Given the description of an element on the screen output the (x, y) to click on. 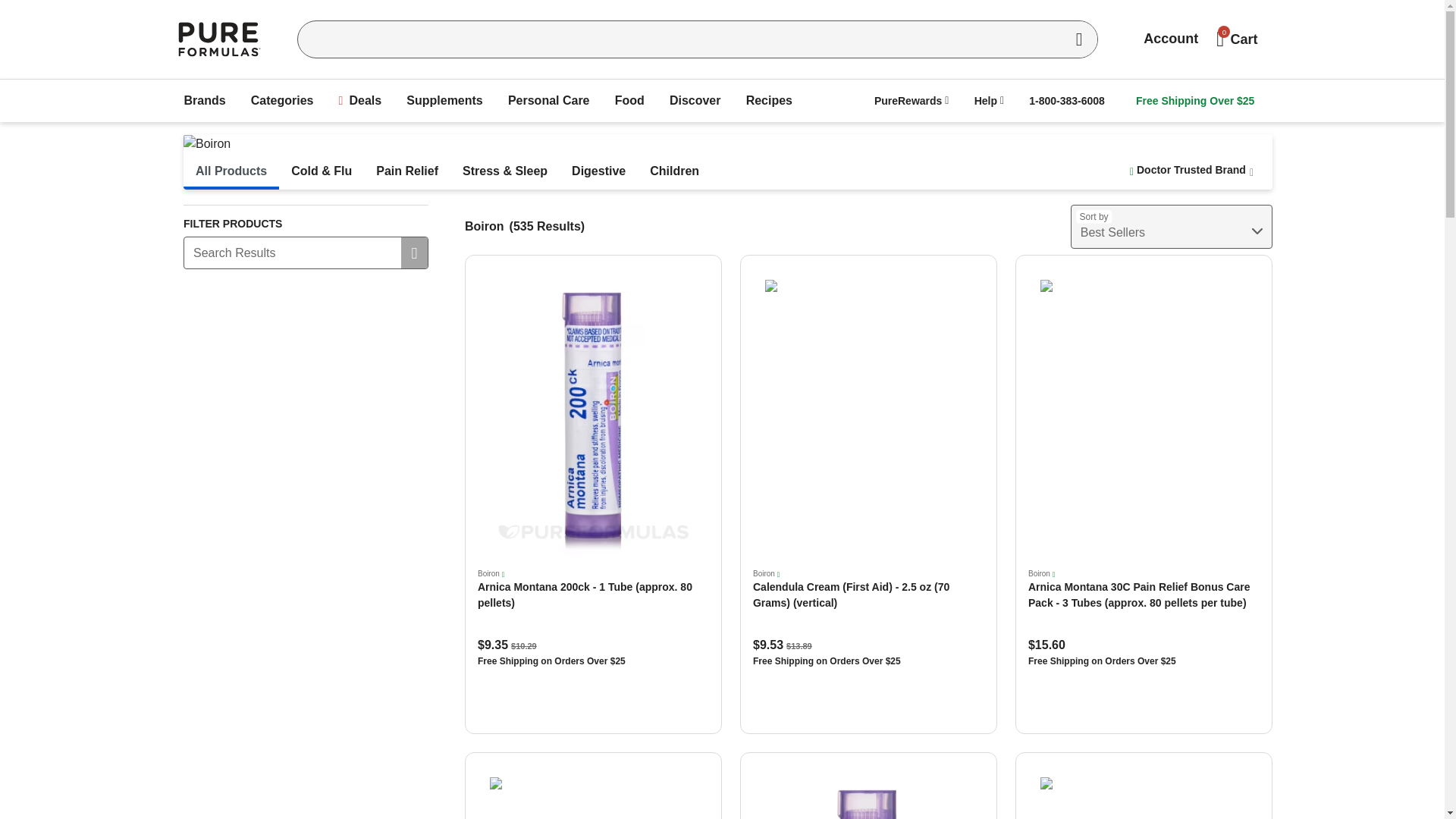
All Products (231, 171)
Recipes (768, 100)
Digestive (598, 171)
Supplements (443, 100)
Discover (694, 100)
Pain Relief (406, 171)
PureRewards (911, 100)
Deals (360, 100)
1-800-383-6008 (1066, 100)
Personal Care (548, 100)
Food (629, 100)
Children (674, 171)
Help (989, 100)
Brands (204, 100)
Categories (282, 100)
